Given the description of an element on the screen output the (x, y) to click on. 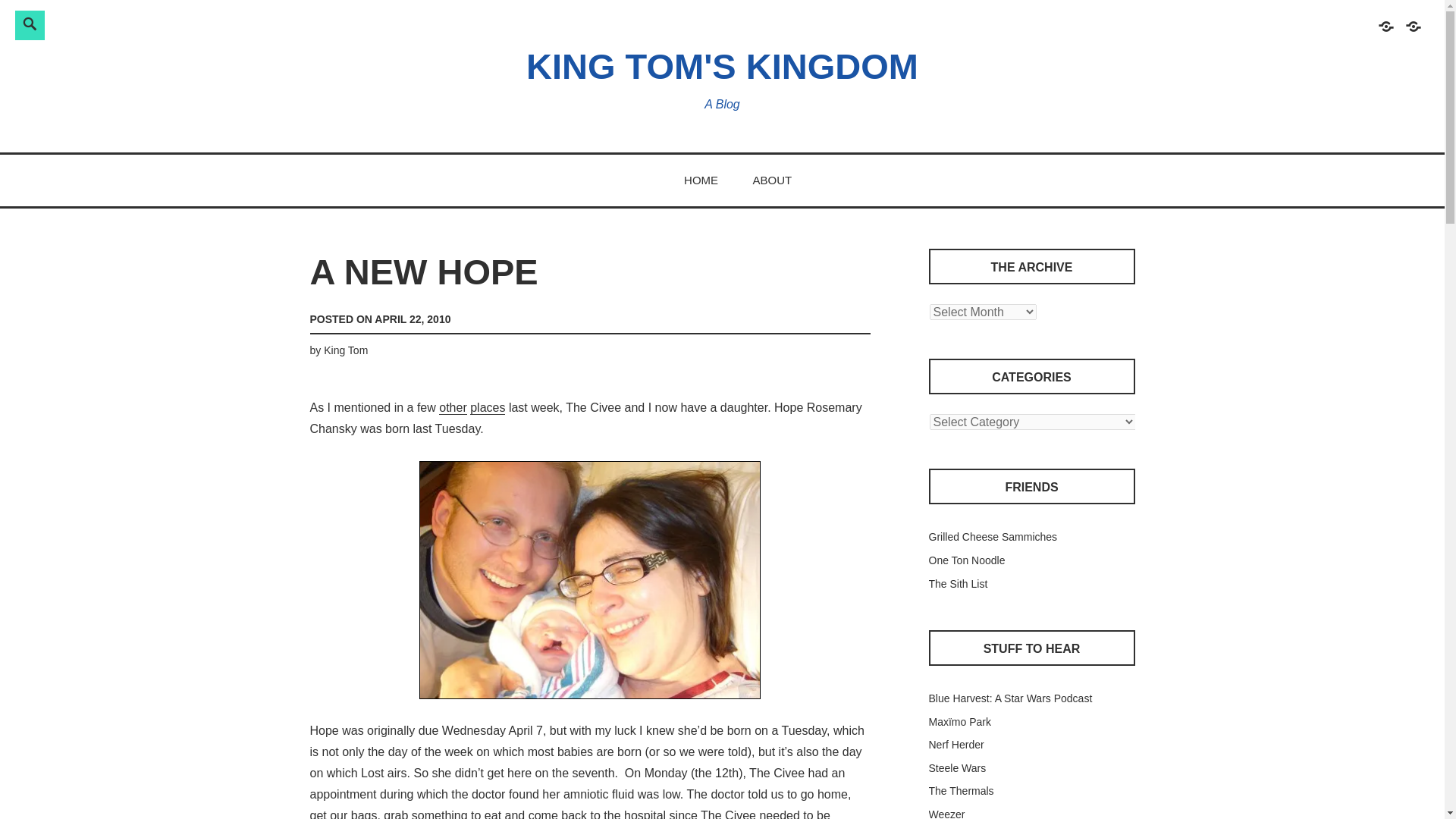
other (452, 407)
Home (1385, 33)
Search (242, 22)
About (1411, 33)
One Ton Noodle (966, 560)
King Tom, Hope and The Civee (589, 580)
Nerf Herder (956, 744)
The Sith List (957, 583)
King Tom (345, 349)
